Given the description of an element on the screen output the (x, y) to click on. 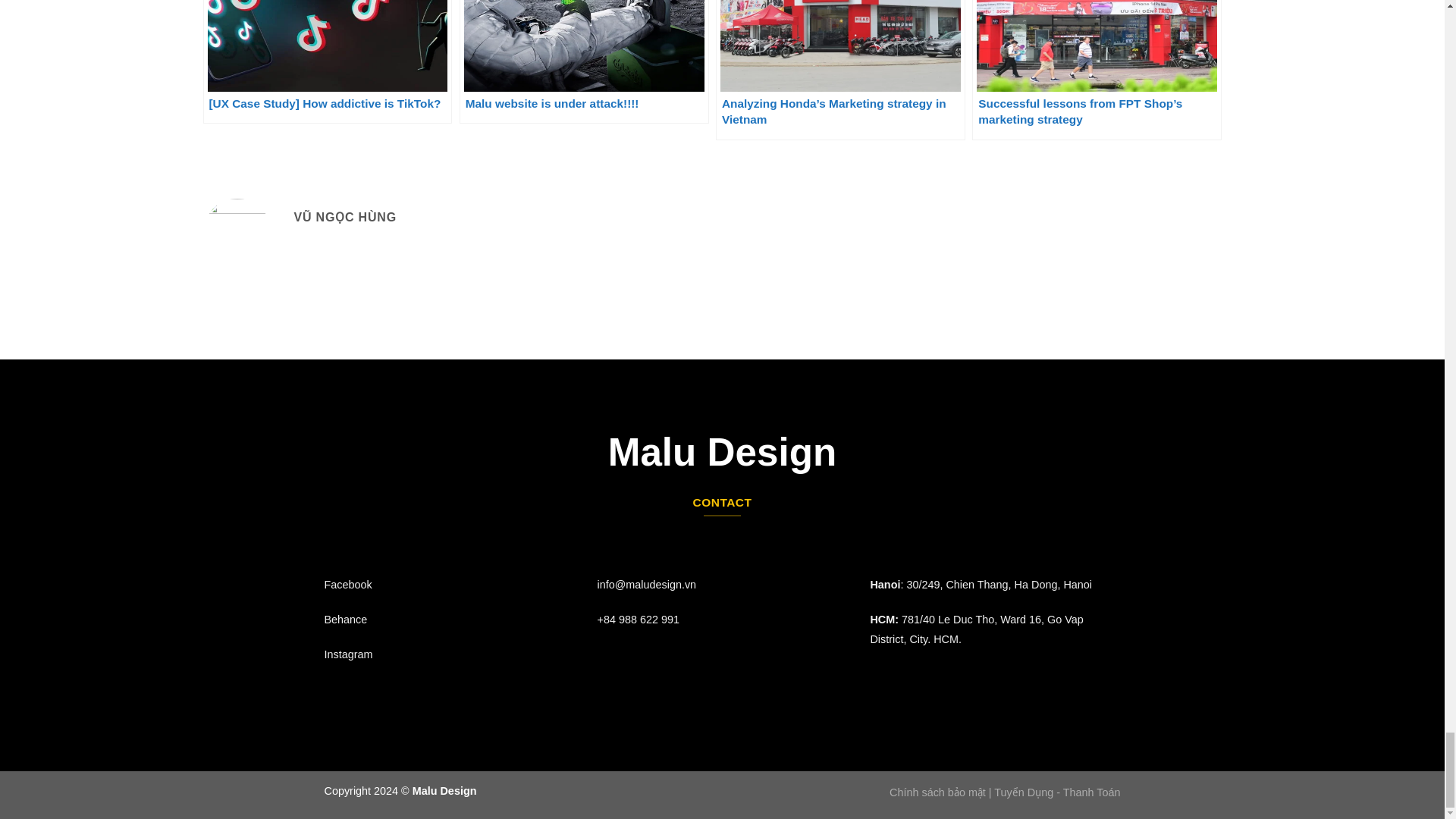
Facebook (348, 584)
Instagram (348, 653)
Behance (346, 618)
HCM: (885, 619)
Malu website is under attack!!!! (584, 61)
CONTACT (722, 501)
